Given the description of an element on the screen output the (x, y) to click on. 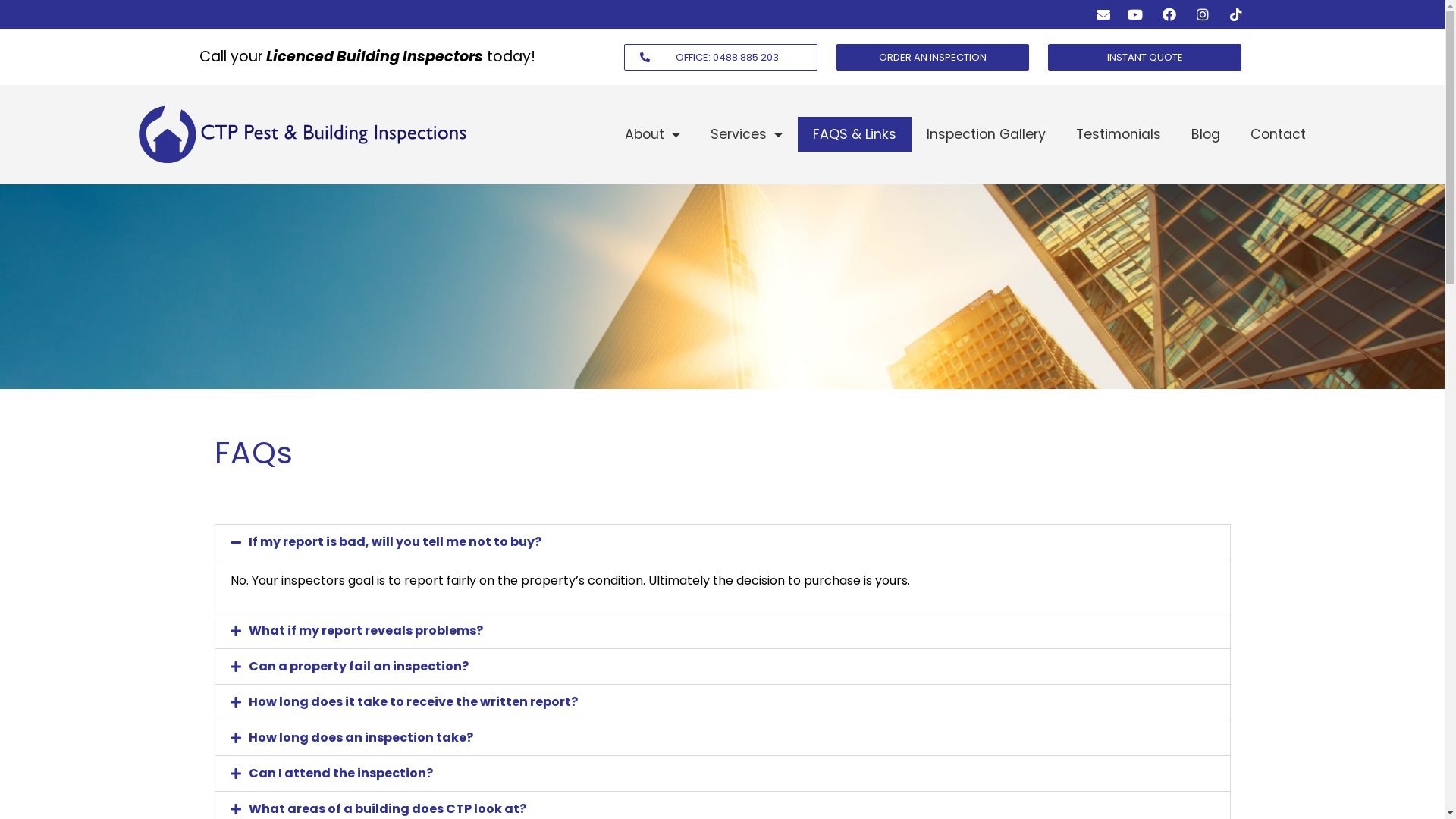
Inspection Gallery Element type: text (985, 133)
Can a property fail an inspection? Element type: text (358, 665)
Testimonials Element type: text (1118, 133)
What areas of a building does CTP look at? Element type: text (387, 808)
Services Element type: text (746, 133)
FAQS & Links Element type: text (854, 133)
How long does it take to receive the written report? Element type: text (412, 701)
How long does an inspection take? Element type: text (360, 737)
What if my report reveals problems? Element type: text (365, 630)
ORDER AN INSPECTION Element type: text (932, 56)
OFFICE: 0488 885 203 Element type: text (719, 56)
INSTANT QUOTE Element type: text (1144, 56)
Contact Element type: text (1278, 133)
If my report is bad, will you tell me not to buy? Element type: text (394, 541)
Blog Element type: text (1205, 133)
Can I attend the inspection? Element type: text (340, 772)
About Element type: text (652, 133)
